Given the description of an element on the screen output the (x, y) to click on. 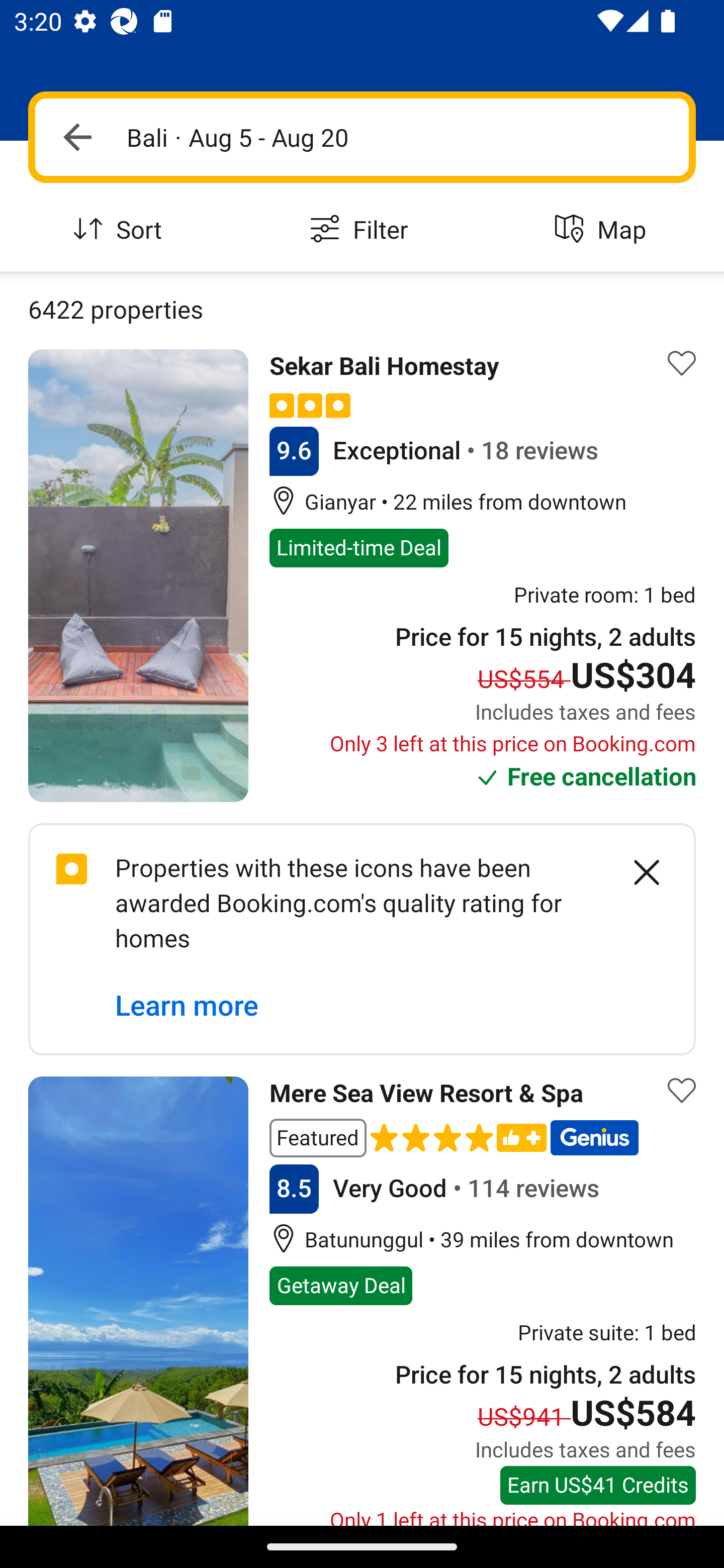
Navigate up Bali · Aug 5 - Aug 20 (362, 136)
Navigate up (77, 136)
Sort (120, 230)
Filter (361, 230)
Map (603, 230)
Save property to list (681, 363)
Clear (635, 871)
Learn more (187, 1006)
Save property to list (681, 1090)
